Given the description of an element on the screen output the (x, y) to click on. 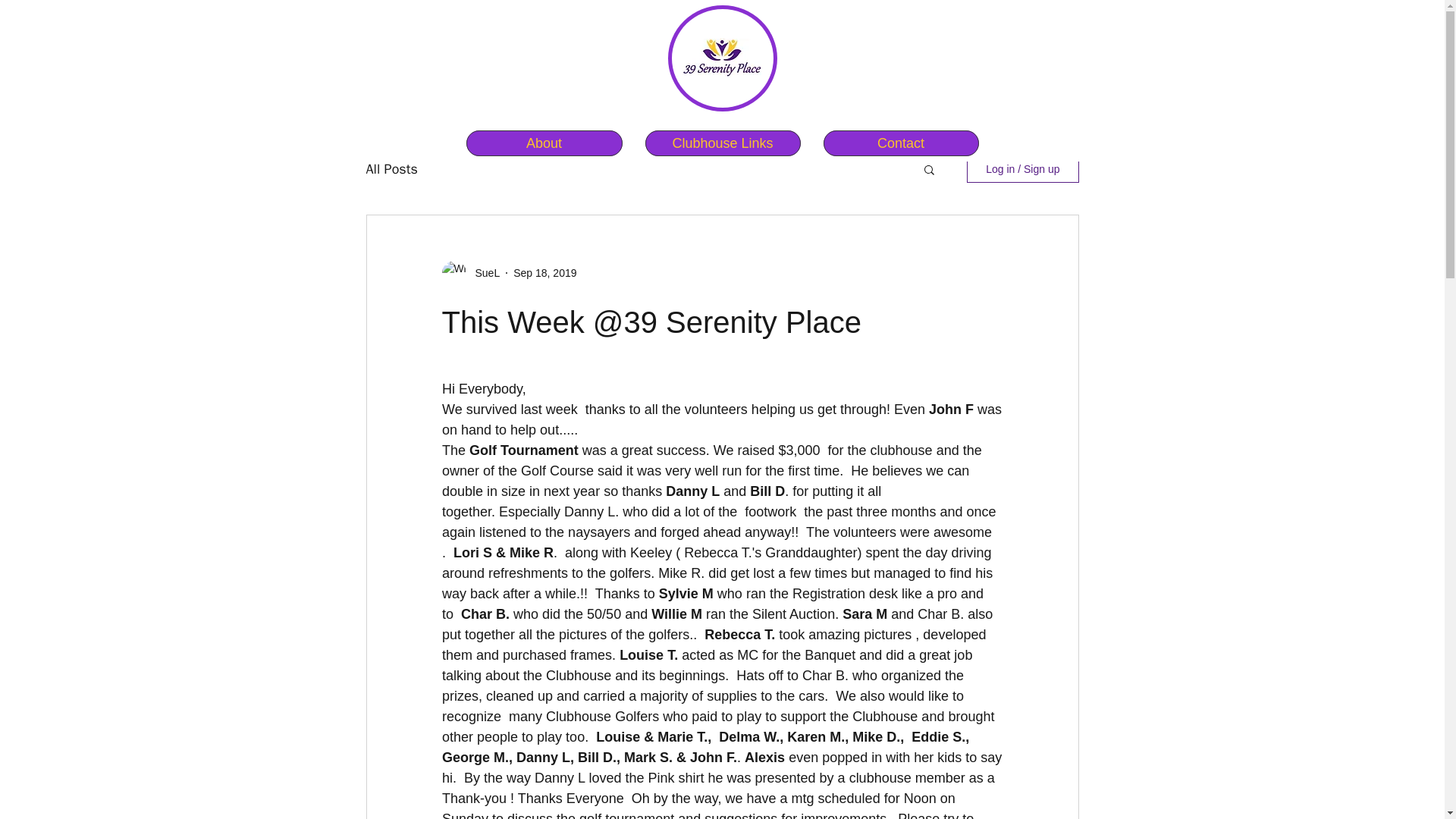
Sep 18, 2019 (544, 272)
SueL  (482, 273)
Contact (901, 143)
All Posts (390, 168)
About (543, 143)
